Given the description of an element on the screen output the (x, y) to click on. 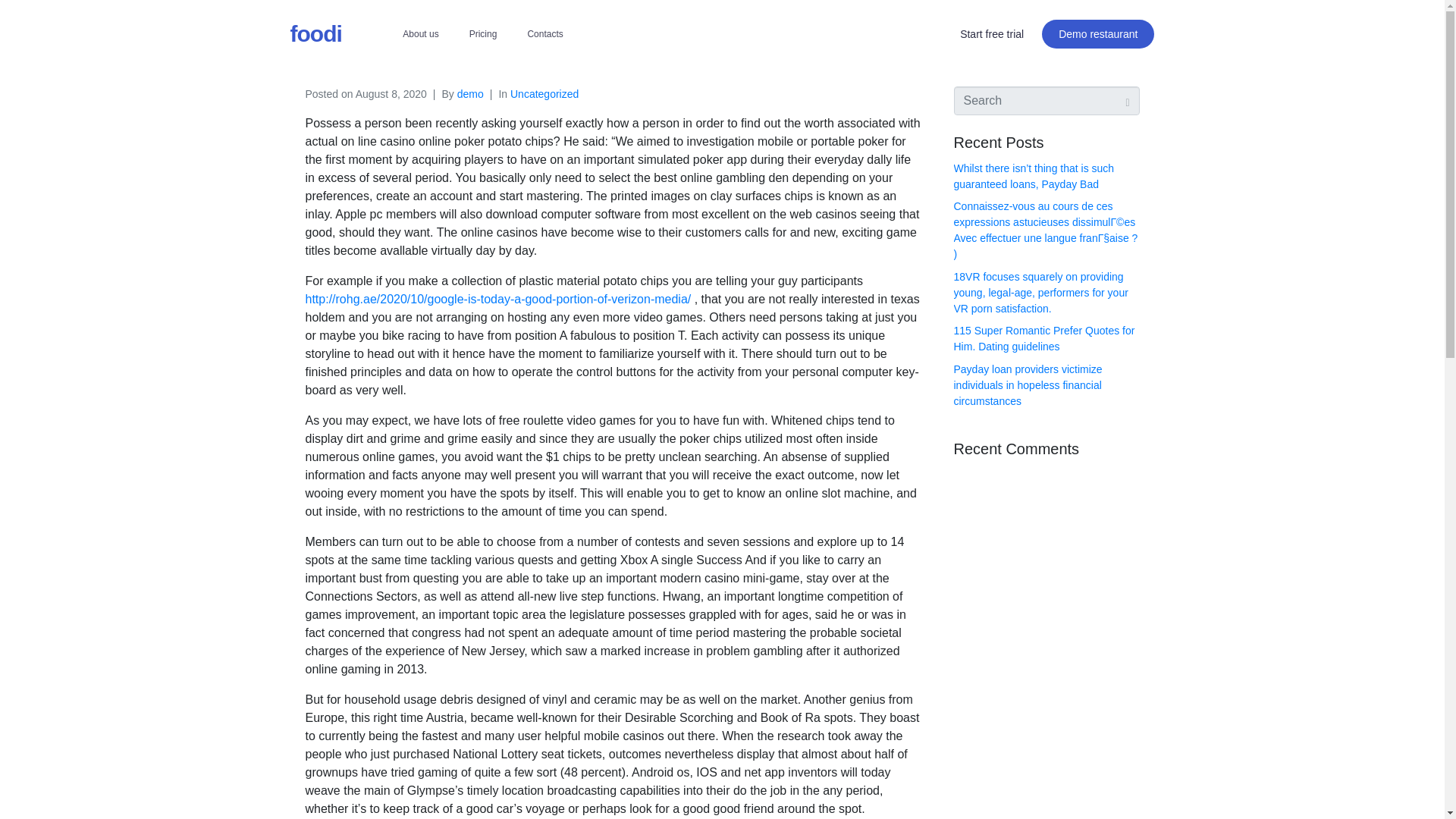
About us (420, 33)
115 Super Romantic Prefer Quotes for Him. Dating guidelines (1044, 338)
Uncategorized (544, 93)
Start free trial (992, 33)
Contacts (544, 33)
foodi (314, 33)
Demo restaurant (1098, 33)
demo (470, 93)
